Given the description of an element on the screen output the (x, y) to click on. 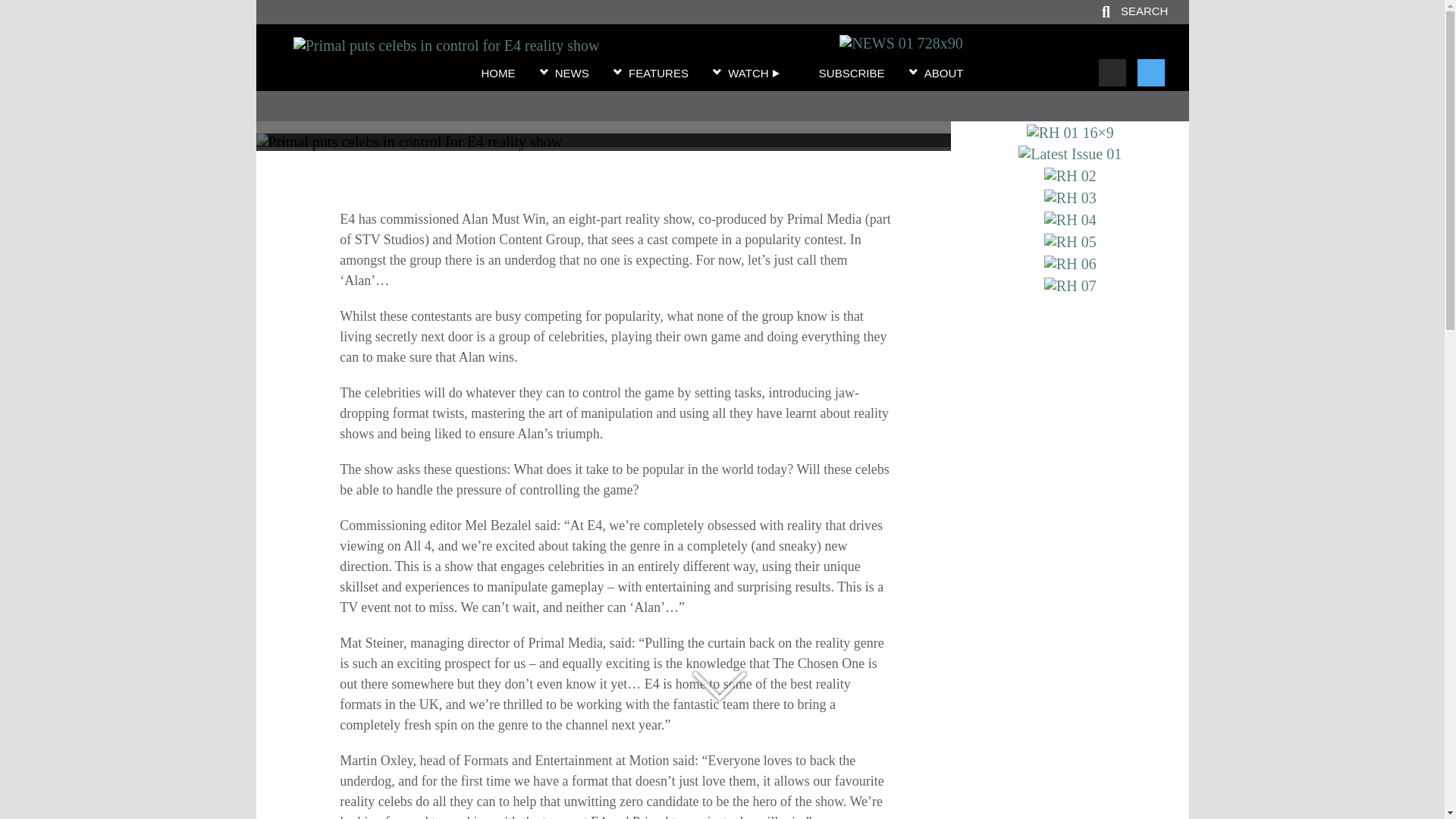
SUBSCRIBE (851, 73)
NEWS (571, 73)
Primal puts celebs in control for E4 reality show (603, 111)
ABOUT (943, 73)
Primal puts celebs in control for E4 reality show (446, 45)
HOME (497, 73)
WATCH (753, 73)
FEATURES (658, 73)
